Given the description of an element on the screen output the (x, y) to click on. 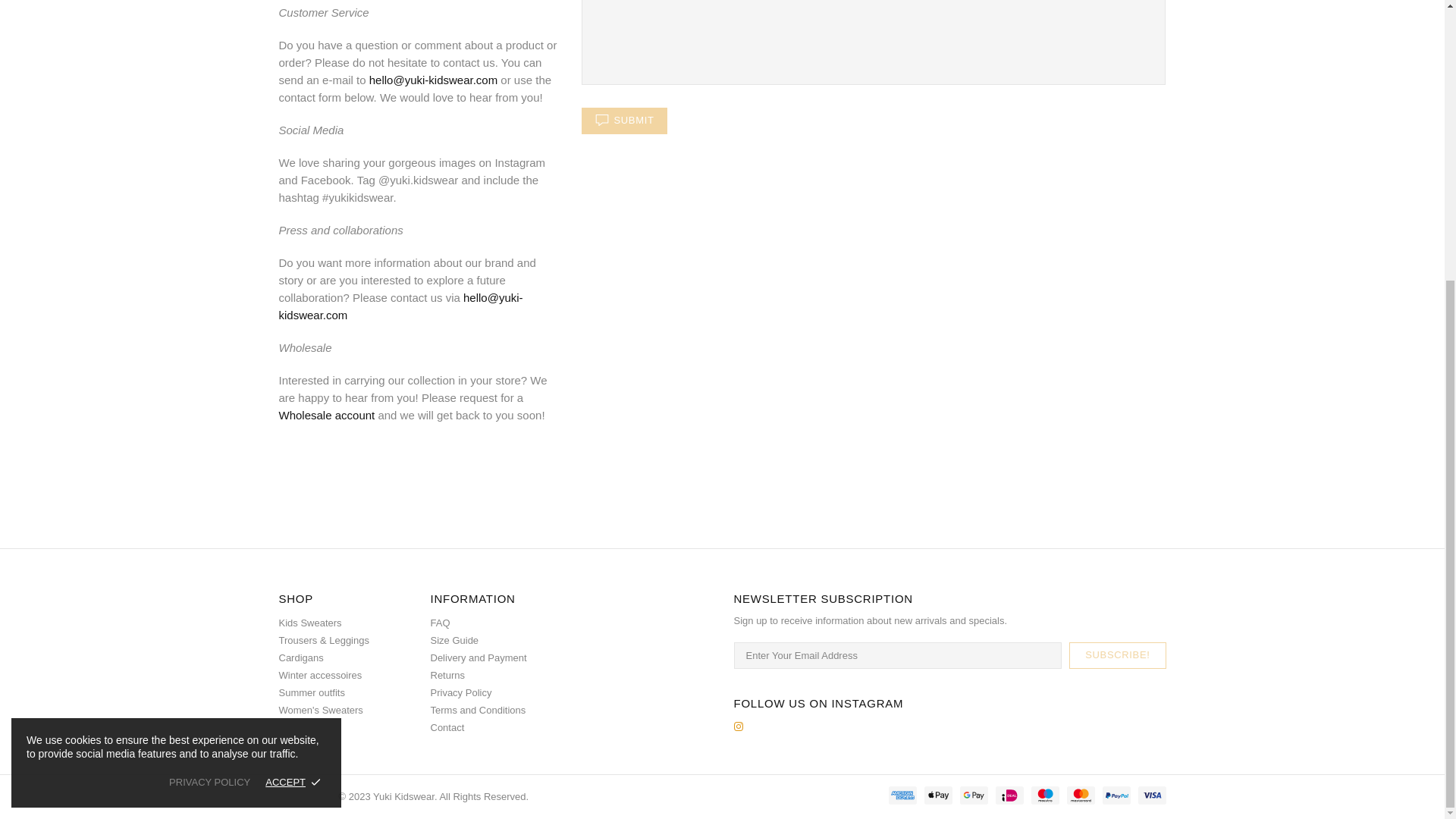
Wholesale account (327, 414)
Page 2 (419, 338)
Page 2 (419, 103)
Contact (447, 727)
Delivery and Payment (478, 657)
SUBMIT (623, 120)
Women's Sweaters (320, 709)
Size Guide (454, 640)
Summer outfits (312, 692)
SUBSCRIBE! (1117, 655)
Returns (447, 675)
SUBSCRIBE! (1117, 655)
Terms and Conditions (477, 709)
Kids Sweaters (310, 622)
FAQ (439, 622)
